Given the description of an element on the screen output the (x, y) to click on. 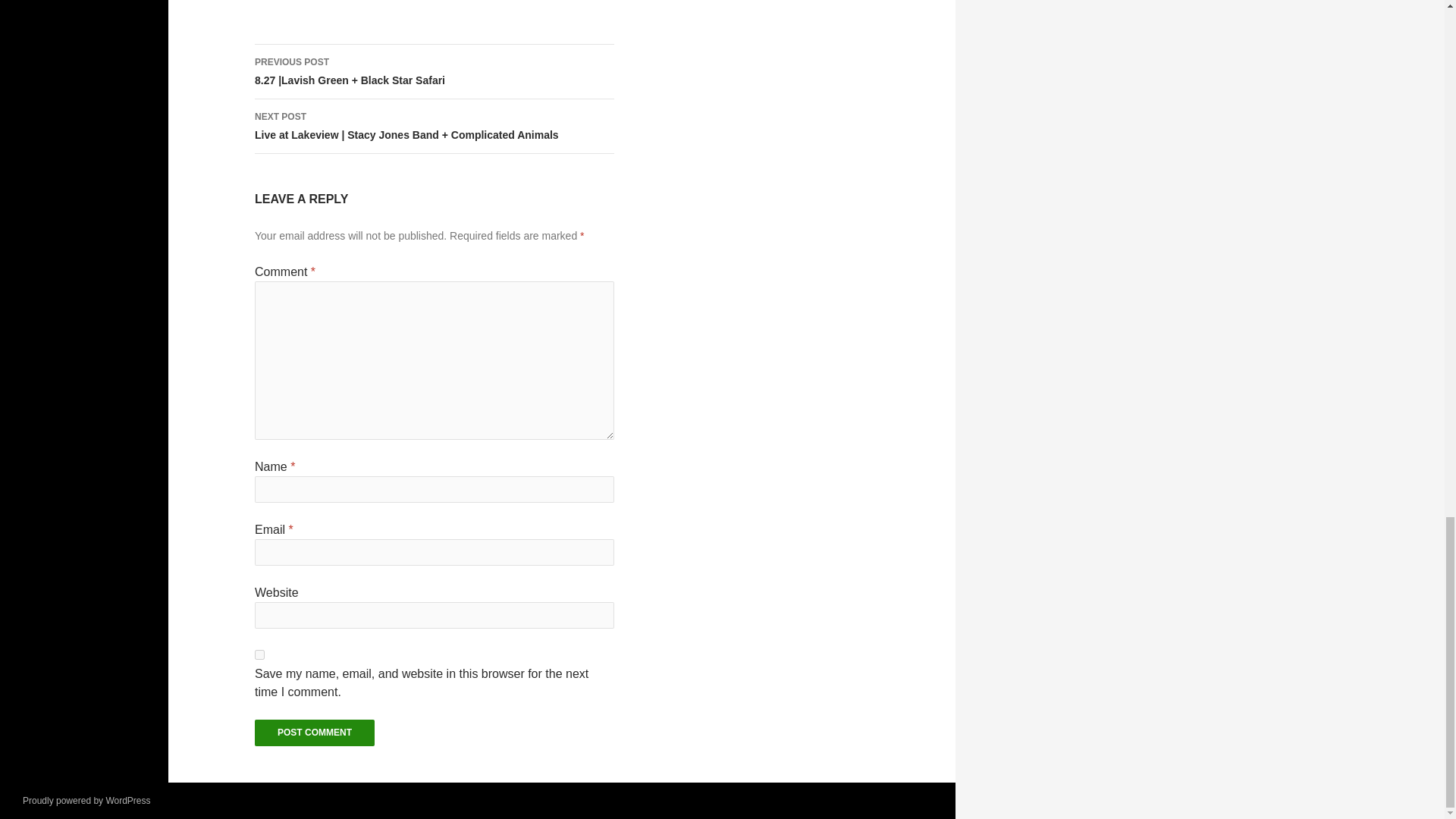
Post Comment (314, 732)
yes (259, 655)
Post Comment (314, 732)
